Given the description of an element on the screen output the (x, y) to click on. 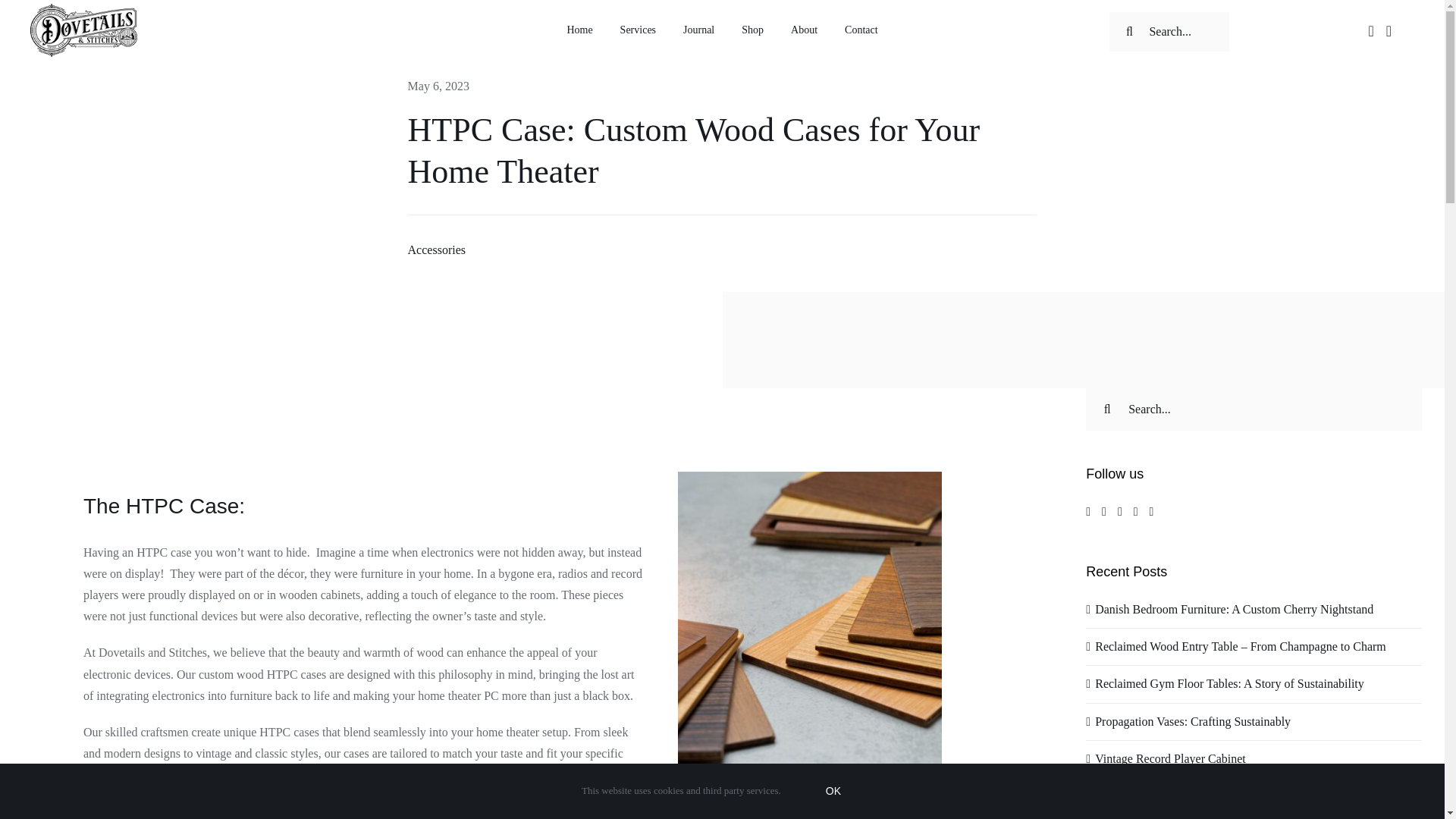
Accessories (436, 249)
Propagation Vases: Crafting Sustainably (1192, 721)
Log In (1321, 203)
Reclaimed Gym Floor Tables: A Story of Sustainability (1229, 683)
Vintage Record Player Cabinet (1170, 758)
Danish Bedroom Furniture: A Custom Cherry Nightstand (1233, 608)
Accessories (436, 249)
